Given the description of an element on the screen output the (x, y) to click on. 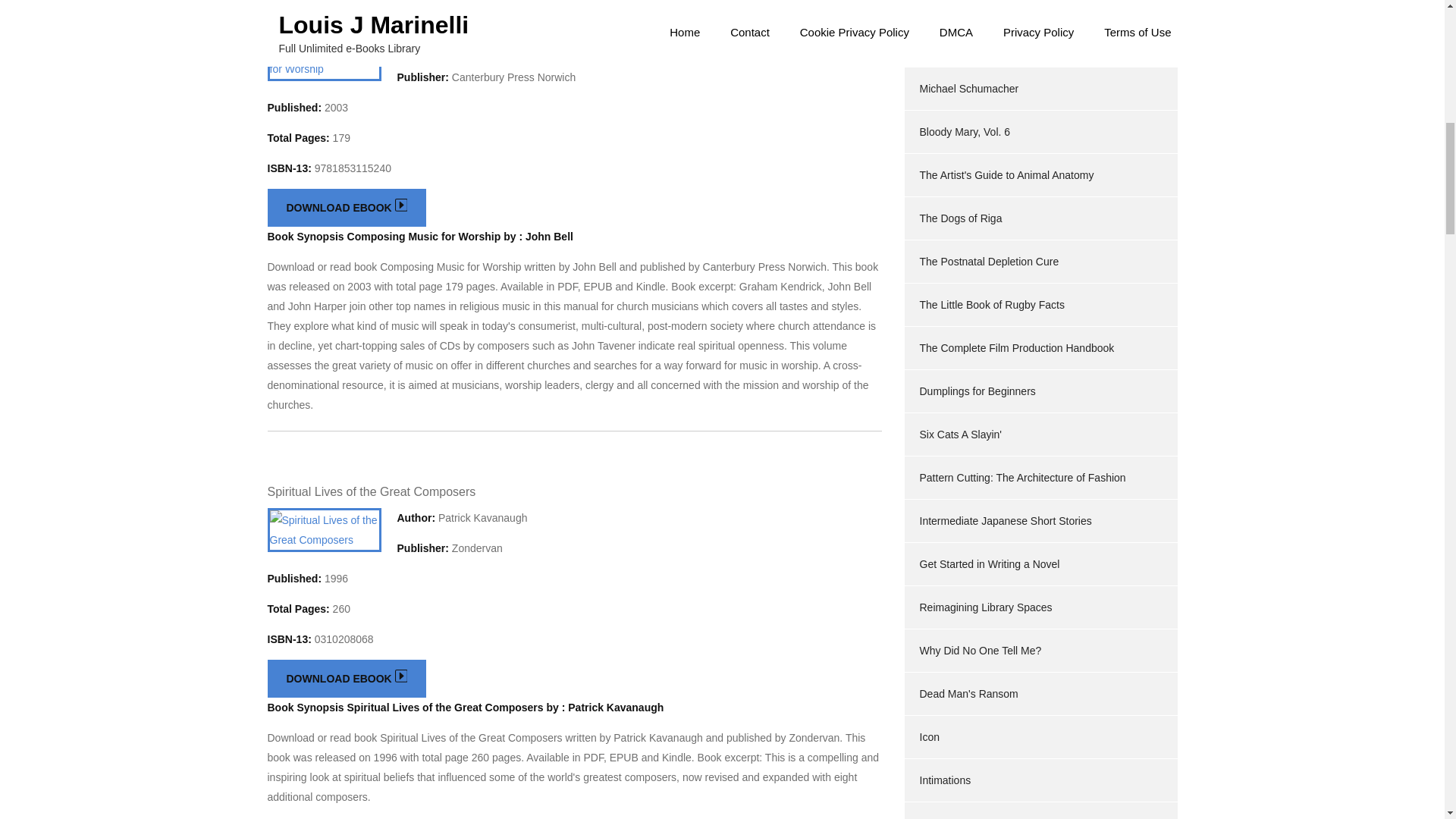
DOWNLOAD EBOOK (346, 207)
Spiritual Lives of the Great Composers (371, 491)
DOWNLOAD EBOOK (346, 678)
Composing Music for Worship (347, 20)
